Given the description of an element on the screen output the (x, y) to click on. 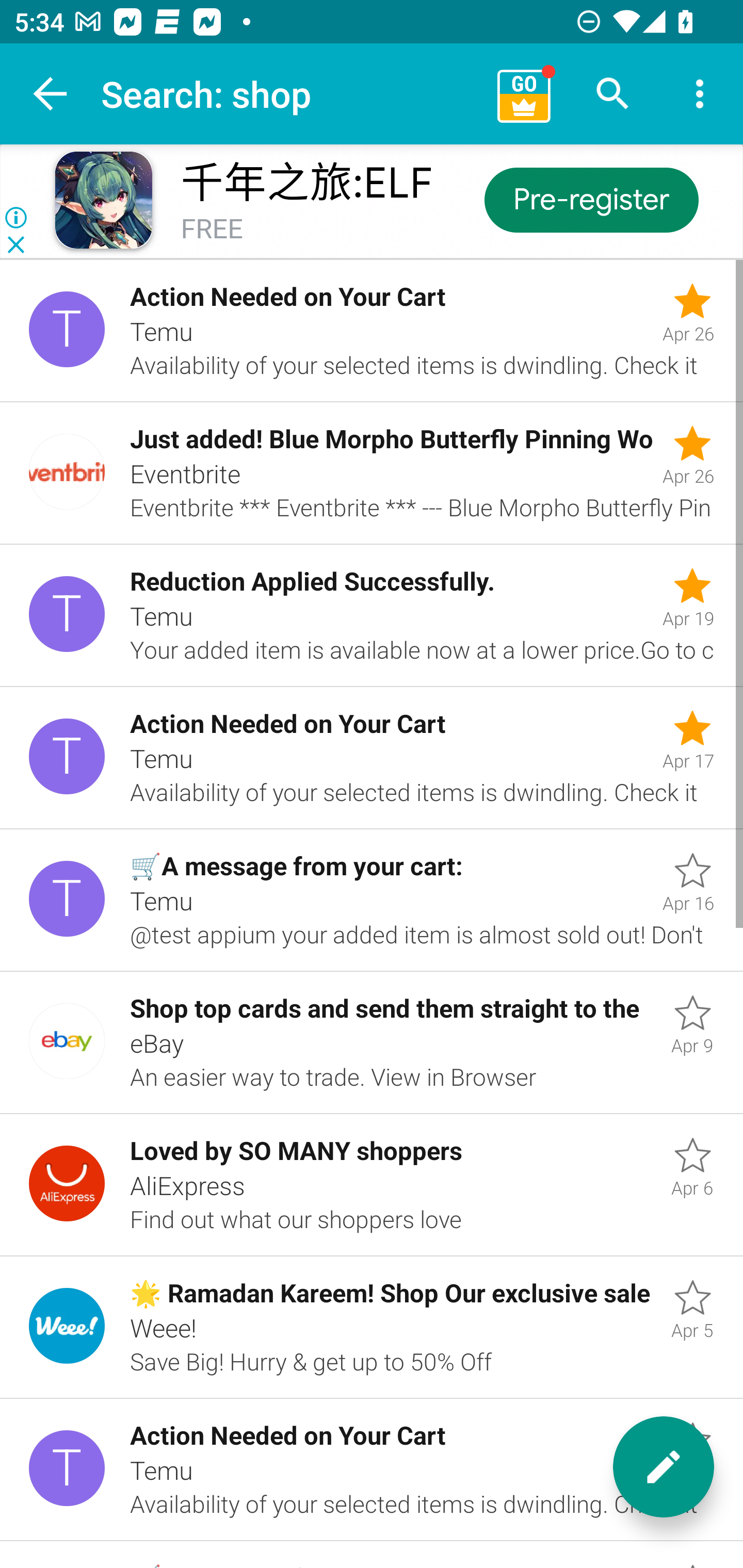
Navigate up (50, 93)
Search (612, 93)
More options (699, 93)
千年之旅:ELF (306, 183)
Pre-register (590, 199)
FREE (211, 230)
New message (663, 1466)
